Given the description of an element on the screen output the (x, y) to click on. 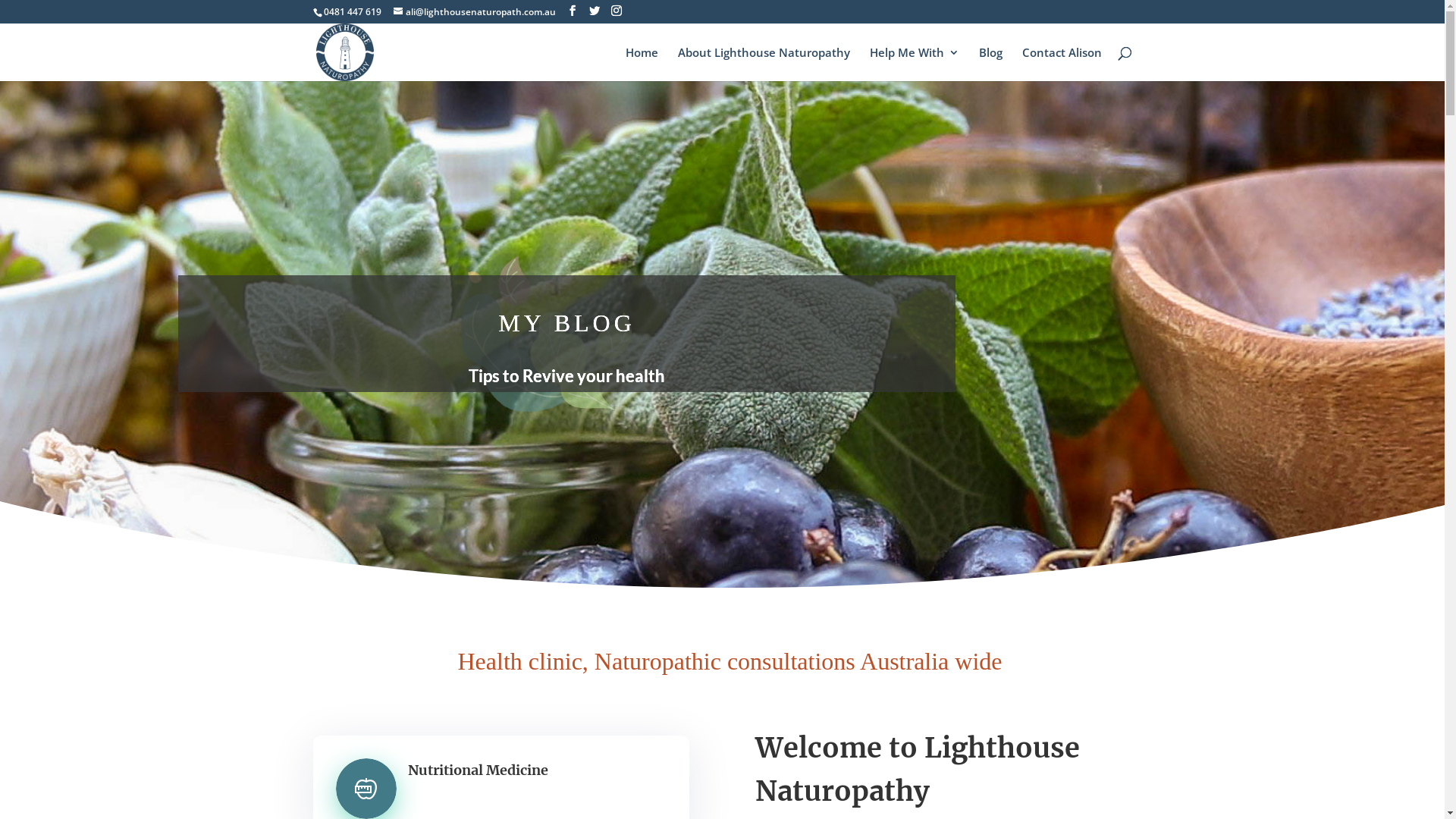
Blog Element type: text (989, 64)
Home Element type: text (640, 64)
Contact Alison Element type: text (1061, 64)
About Lighthouse Naturopathy Element type: text (763, 64)
Help Me With Element type: text (913, 64)
ali@lighthousenaturopath.com.au Element type: text (473, 11)
